Given the description of an element on the screen output the (x, y) to click on. 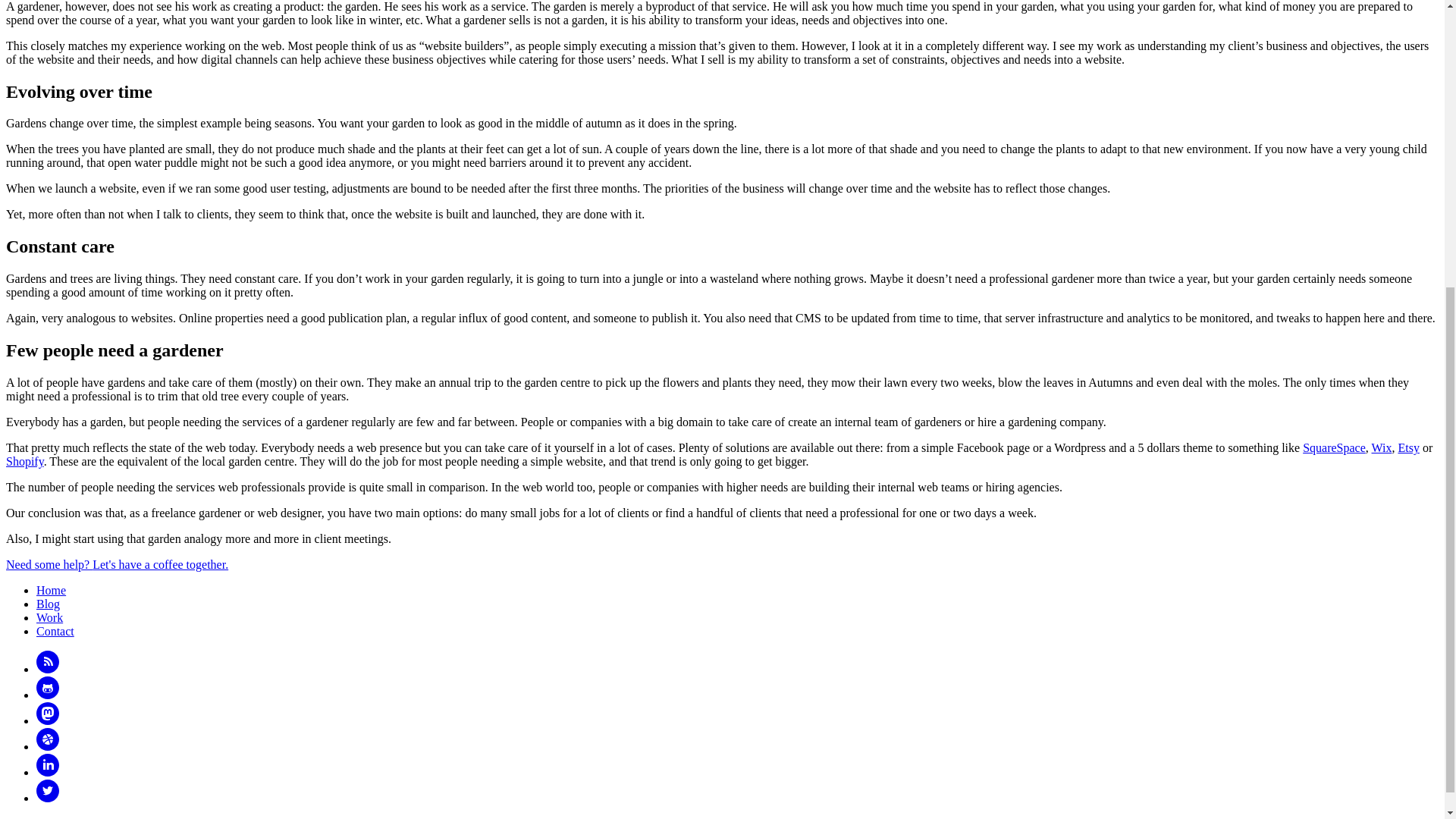
Wix (1381, 447)
Home (50, 590)
Contact (55, 631)
Etsy (1407, 447)
Need some help? Let's have a coffee together. (116, 563)
Work (49, 617)
Blog (47, 603)
Shopify (24, 461)
SquareSpace (1334, 447)
